Given the description of an element on the screen output the (x, y) to click on. 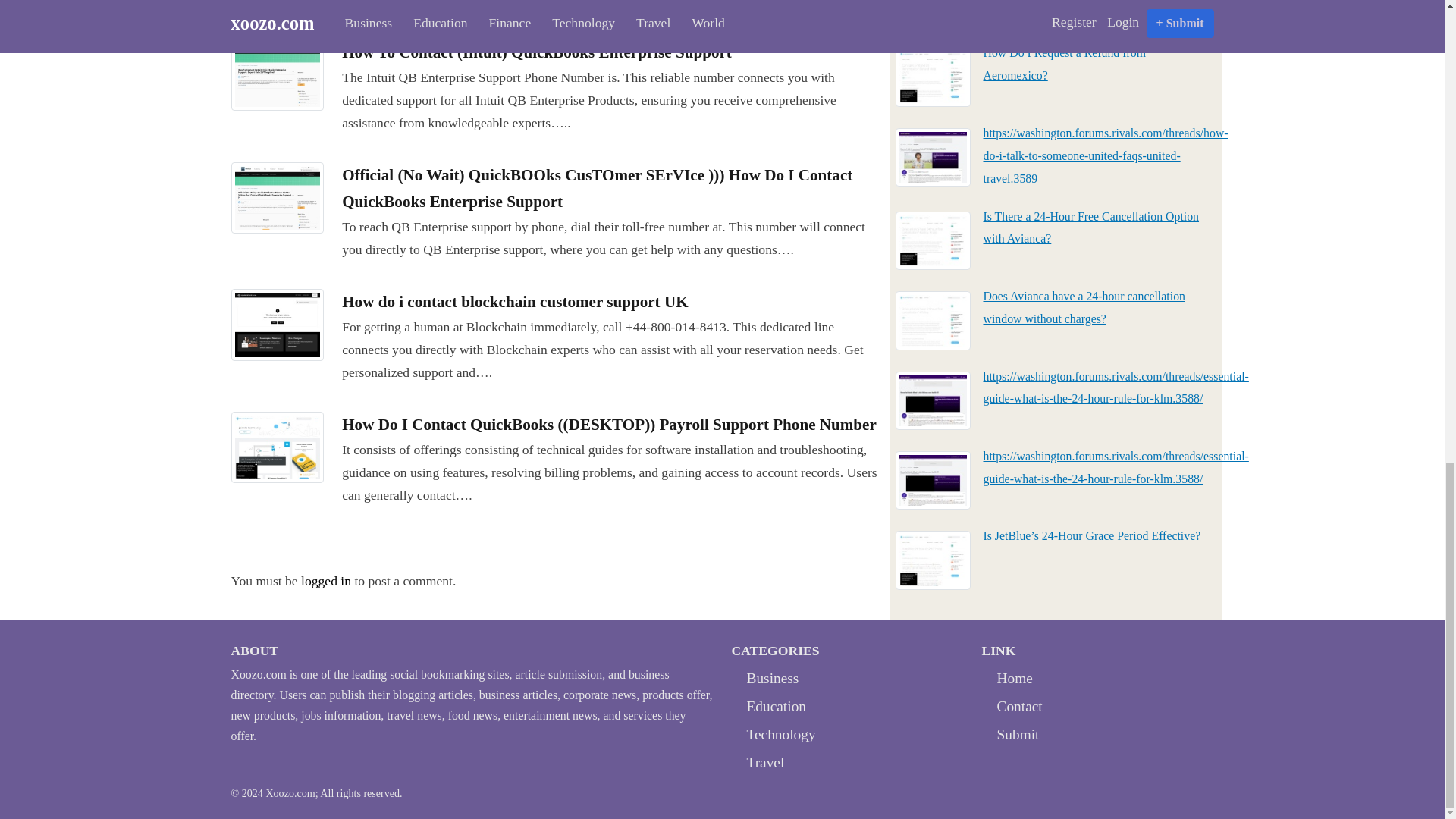
logged in (325, 580)
How do i contact blockchain customer support UK (514, 301)
